Given the description of an element on the screen output the (x, y) to click on. 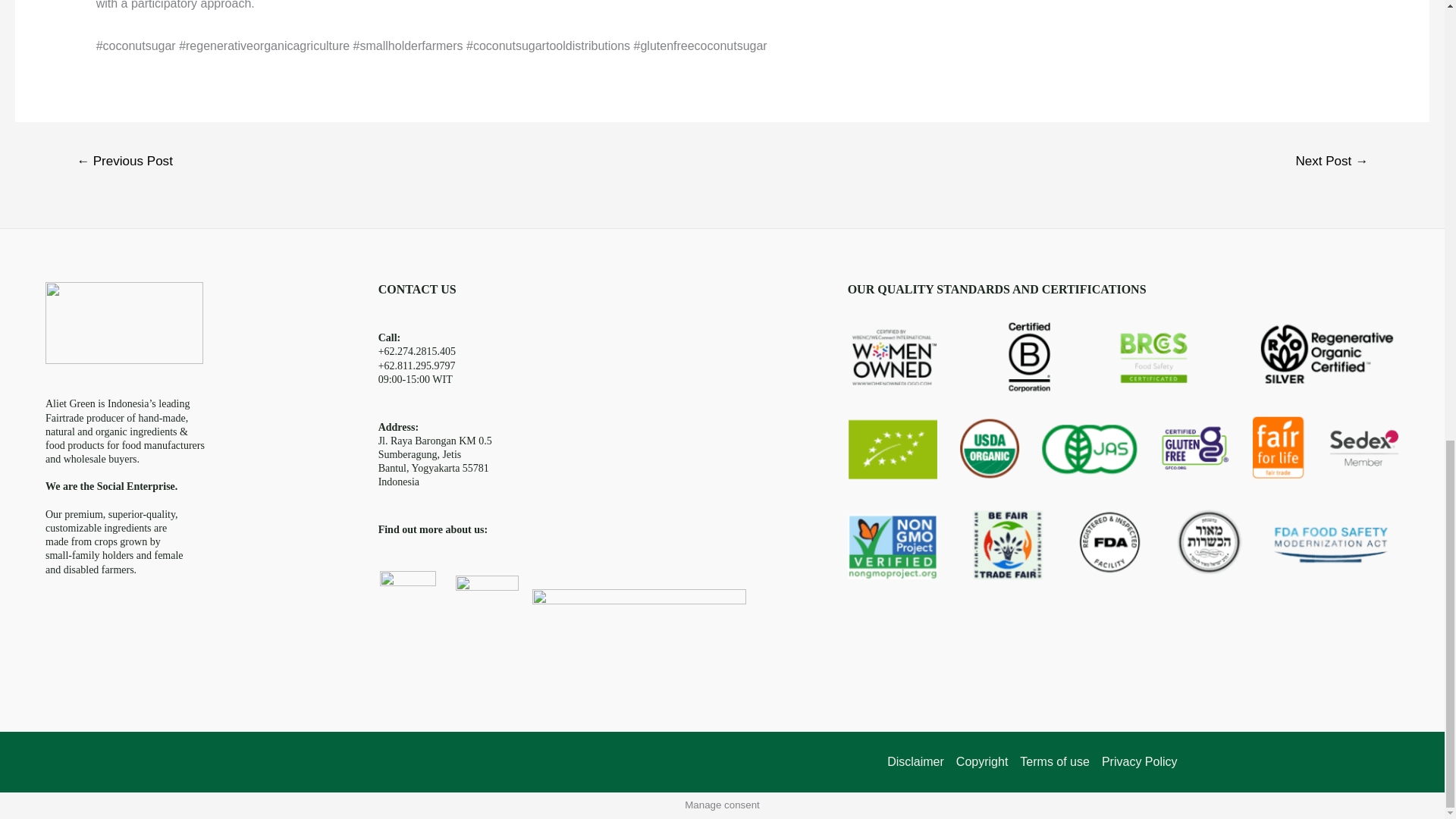
Disclaimer (918, 762)
Terms of use (1054, 762)
Copyright (981, 762)
Privacy Policy (1136, 762)
